Given the description of an element on the screen output the (x, y) to click on. 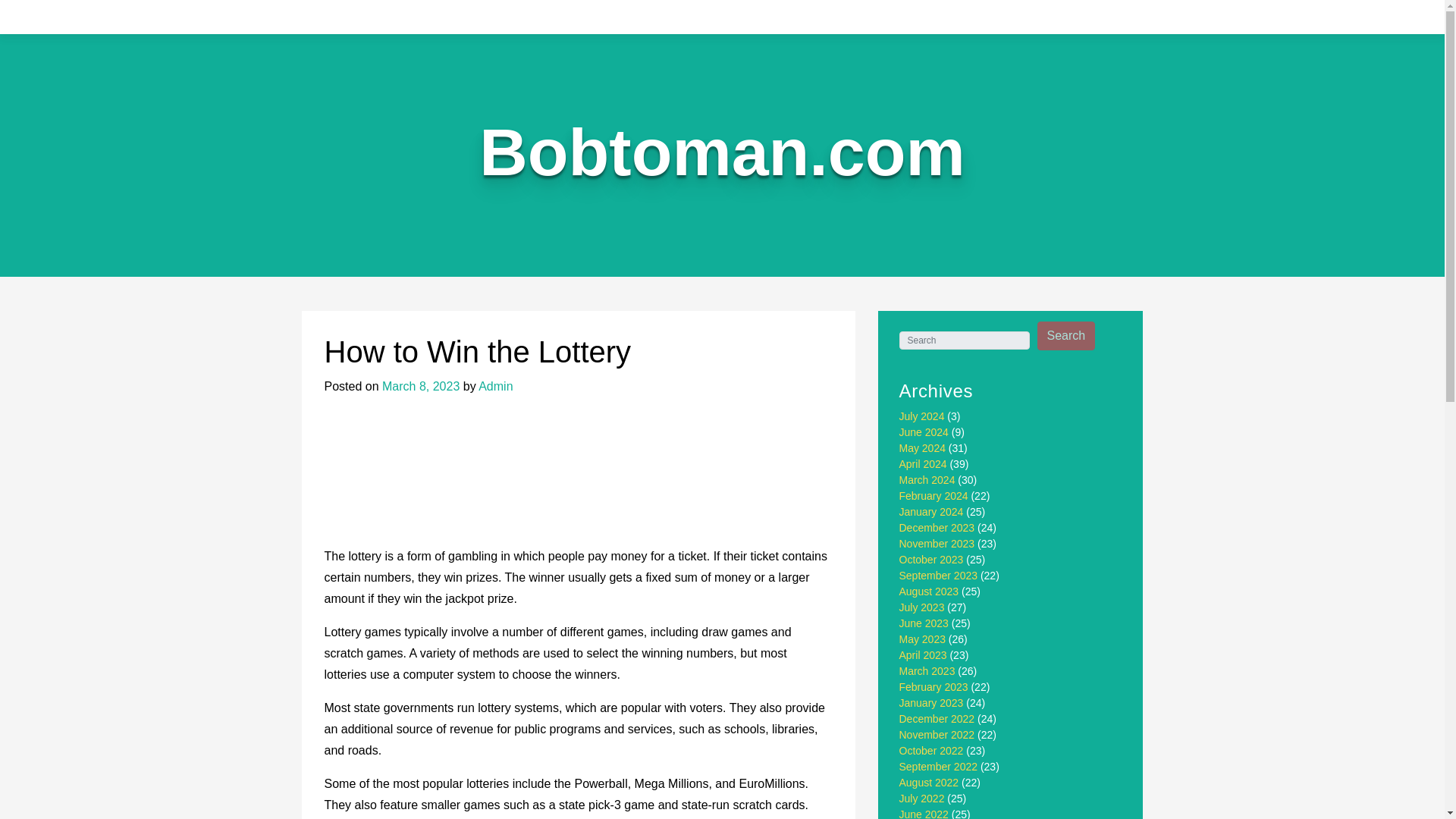
September 2022 (938, 766)
July 2023 (921, 607)
April 2024 (923, 463)
December 2023 (937, 527)
March 2023 (927, 671)
August 2023 (929, 591)
January 2023 (931, 702)
July 2022 (921, 798)
June 2024 (924, 431)
May 2024 (921, 448)
April 2023 (923, 654)
December 2022 (937, 718)
March 2024 (927, 480)
September 2023 (938, 575)
November 2023 (937, 543)
